Given the description of an element on the screen output the (x, y) to click on. 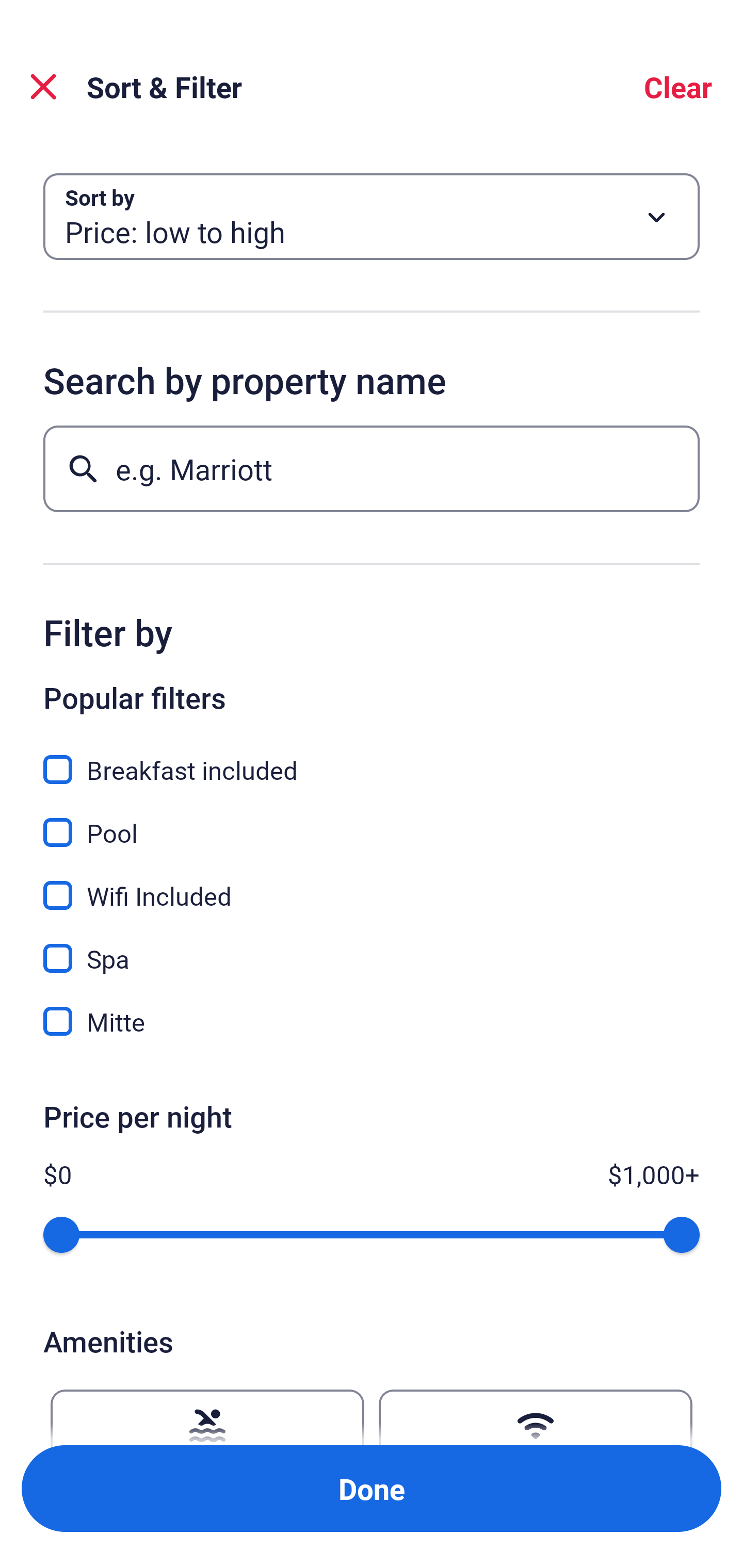
Close Sort and Filter (43, 86)
Clear (677, 86)
Sort by Button Price: low to high (371, 217)
e.g. Marriott Button (371, 468)
Breakfast included, Breakfast included (371, 757)
Pool, Pool (371, 821)
Wifi Included, Wifi Included (371, 883)
Spa, Spa (371, 946)
Mitte, Mitte (371, 1021)
Apply and close Sort and Filter Done (371, 1488)
